Given the description of an element on the screen output the (x, y) to click on. 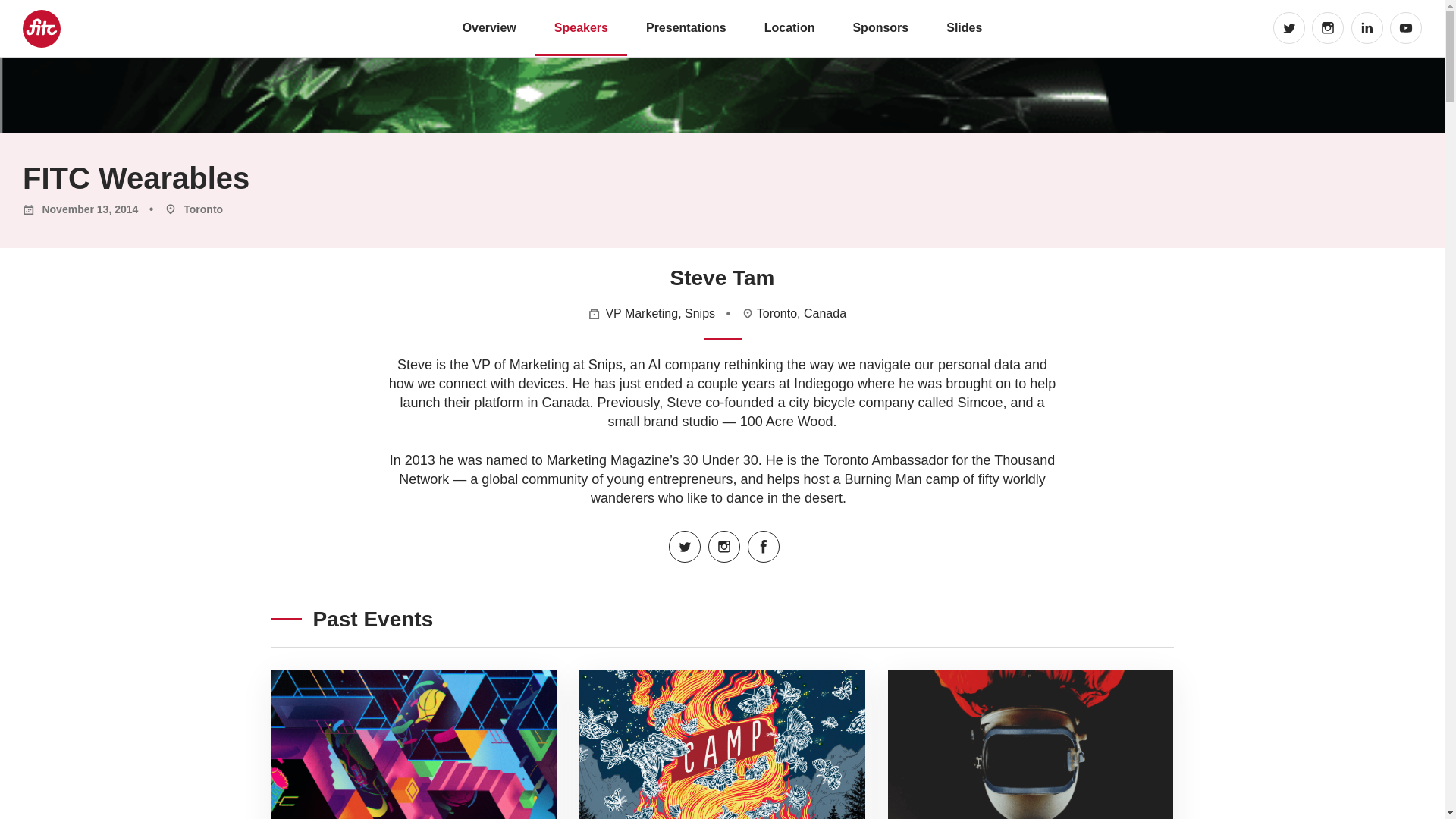
twitter (1288, 28)
November 13, 2014 (80, 208)
youtube (1406, 28)
Location (789, 27)
twitter (684, 546)
FITC (40, 27)
instagram (1327, 28)
Sponsors (879, 27)
VP Marketing, Snips (659, 313)
Speakers (581, 28)
Overview (489, 27)
Presentations (686, 27)
instagram (723, 546)
facebook (763, 546)
Slides (964, 27)
